Given the description of an element on the screen output the (x, y) to click on. 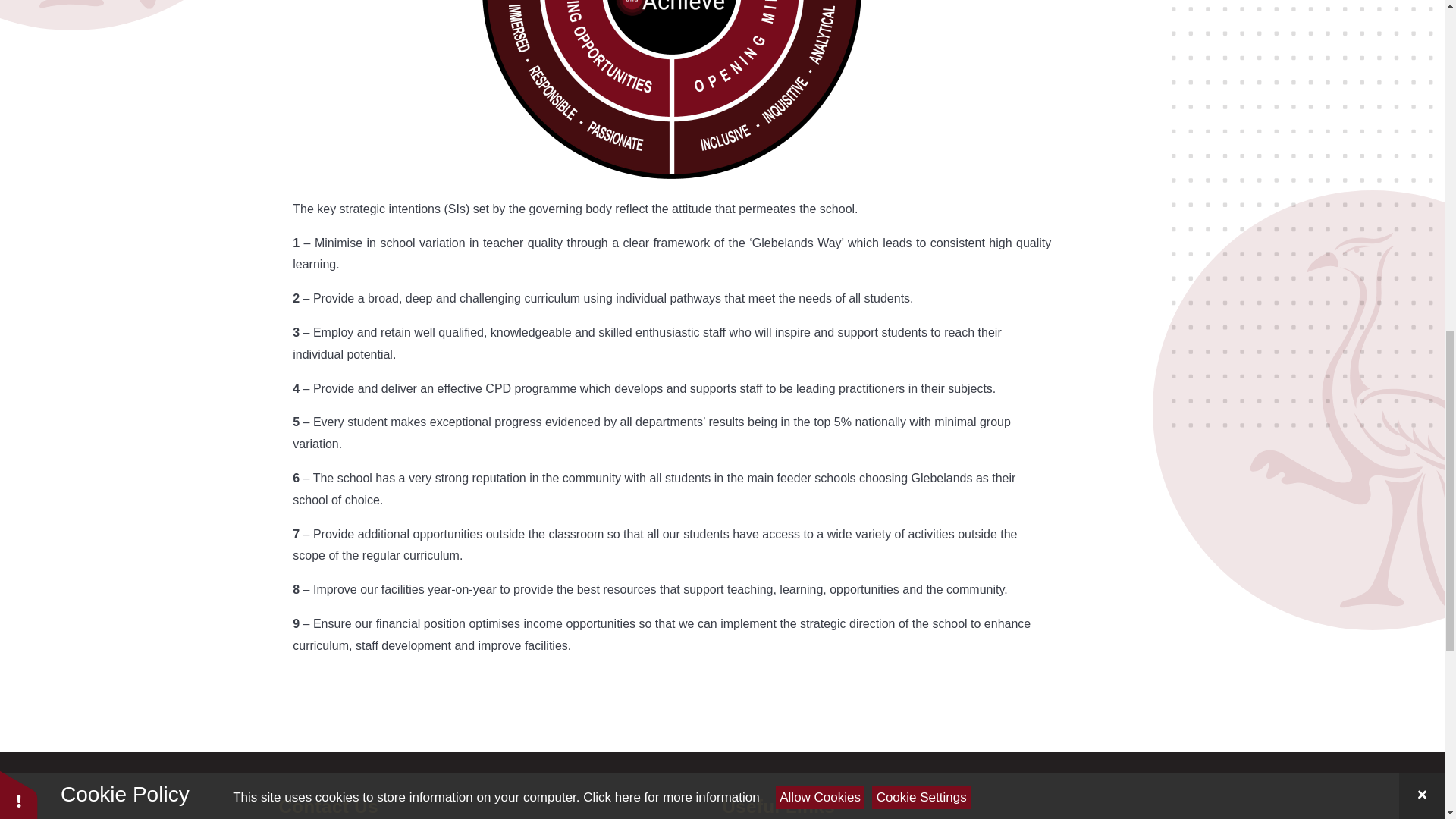
Our Intent (671, 89)
